Given the description of an element on the screen output the (x, y) to click on. 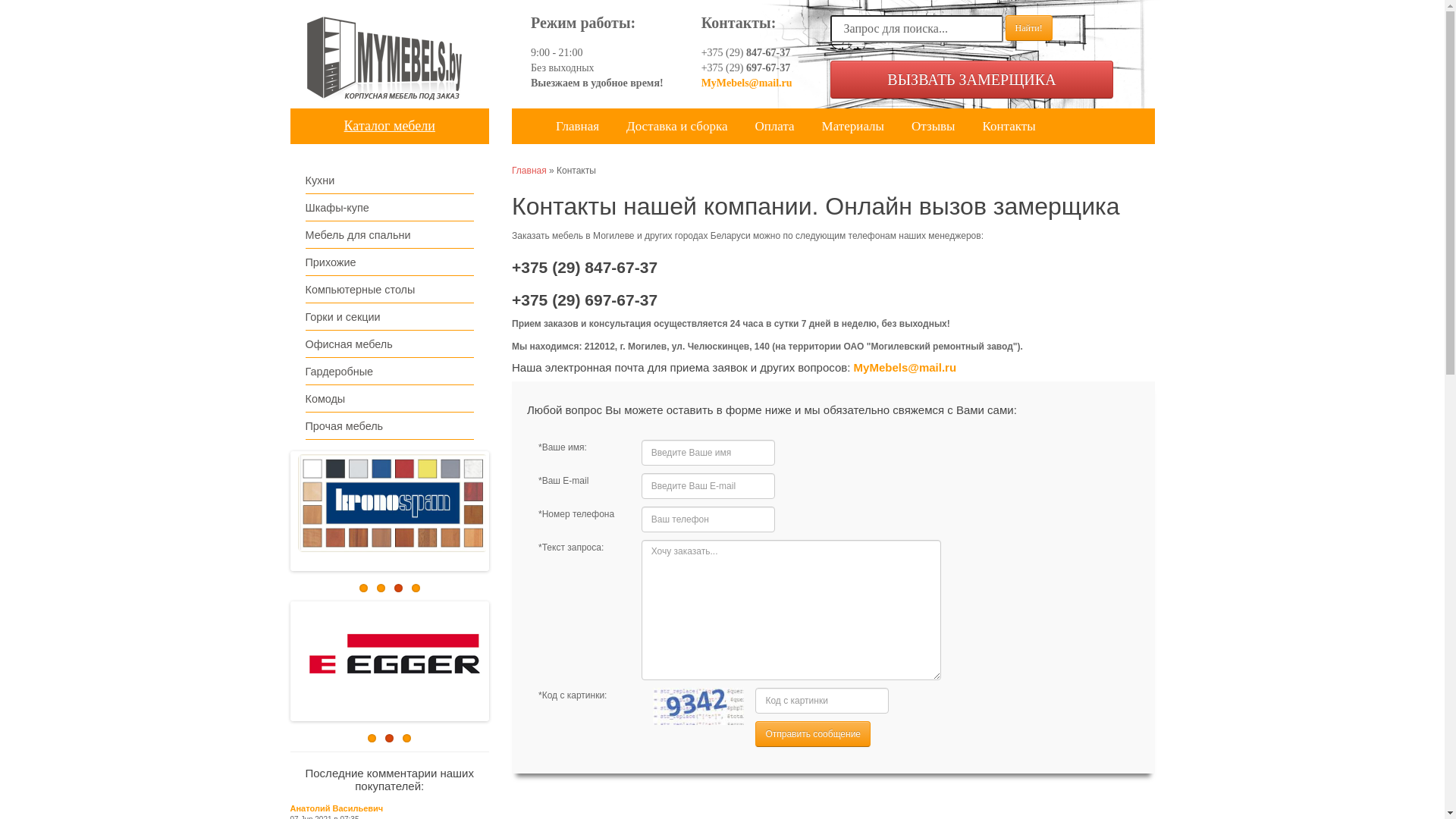
MyMebels@mail.ru Element type: text (905, 366)
MyMebels@mail.ru Element type: text (746, 82)
